Given the description of an element on the screen output the (x, y) to click on. 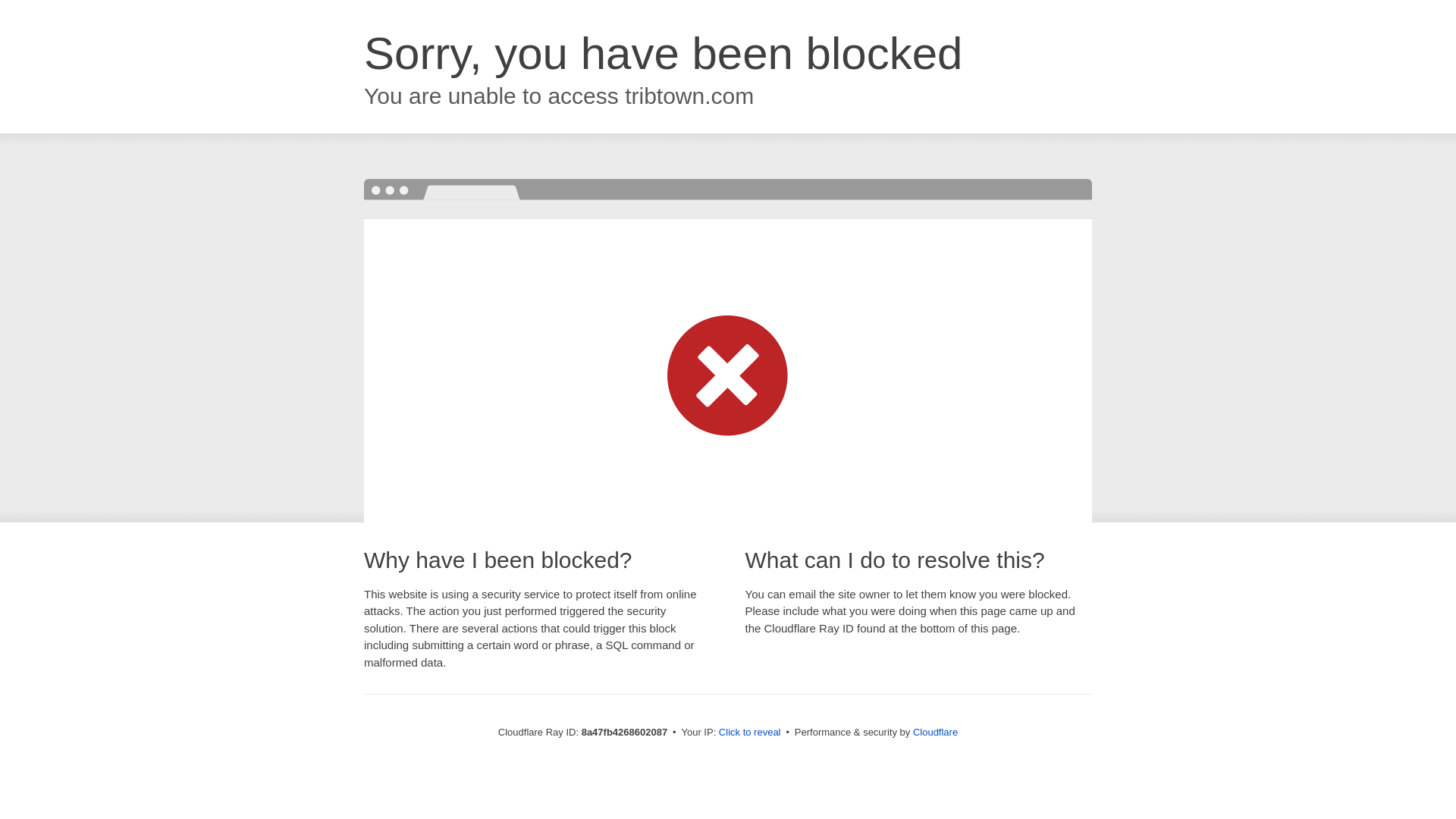
Click to reveal (749, 732)
Cloudflare (935, 731)
